Given the description of an element on the screen output the (x, y) to click on. 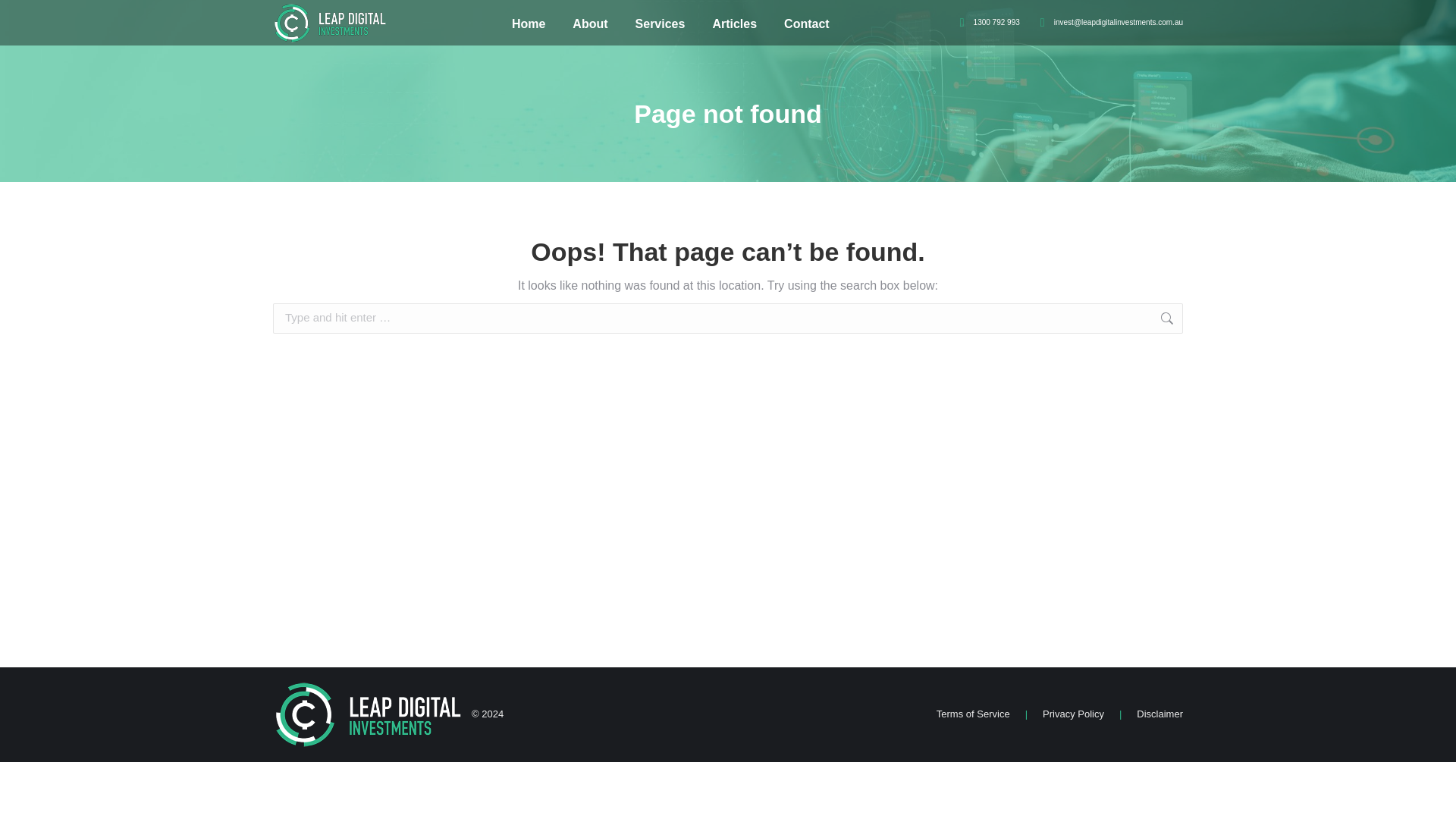
Home (528, 24)
Contact (806, 24)
Services (659, 24)
Go! (1206, 319)
Privacy Policy (1072, 713)
Terms of Service (973, 713)
Go! (1206, 319)
Disclaimer (1159, 713)
Go! (1206, 319)
Articles (734, 24)
About (589, 24)
